Given the description of an element on the screen output the (x, y) to click on. 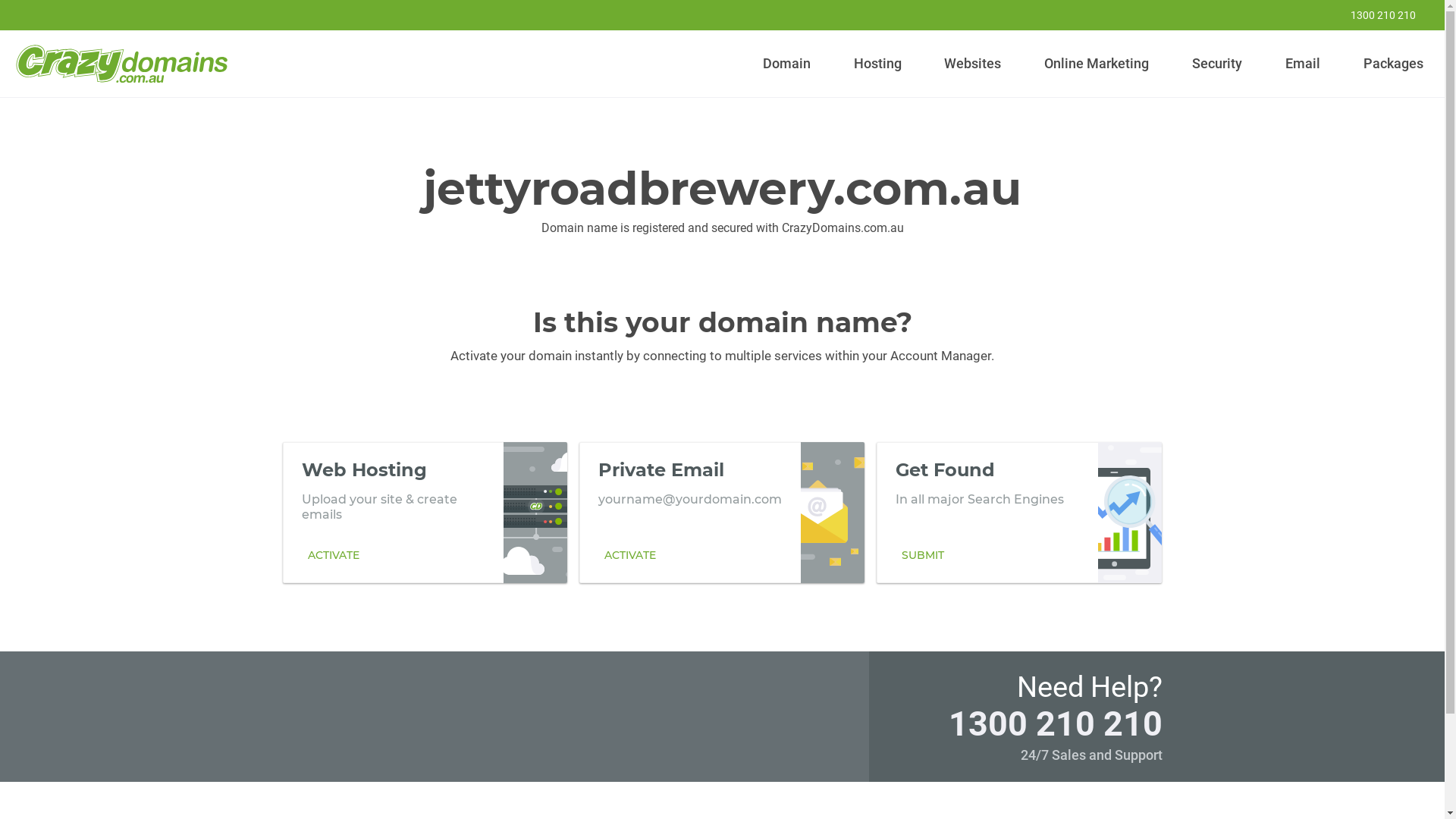
Private Email
yourname@yourdomain.com
ACTIVATE Element type: text (721, 511)
Domain Element type: text (786, 63)
1300 210 210 Element type: text (1054, 723)
Websites Element type: text (972, 63)
Get Found
In all major Search Engines
SUBMIT Element type: text (1018, 511)
Email Element type: text (1302, 63)
Packages Element type: text (1392, 63)
Hosting Element type: text (877, 63)
Web Hosting
Upload your site & create emails
ACTIVATE Element type: text (424, 511)
Security Element type: text (1217, 63)
1300 210 210 Element type: text (1373, 15)
Online Marketing Element type: text (1096, 63)
